Given the description of an element on the screen output the (x, y) to click on. 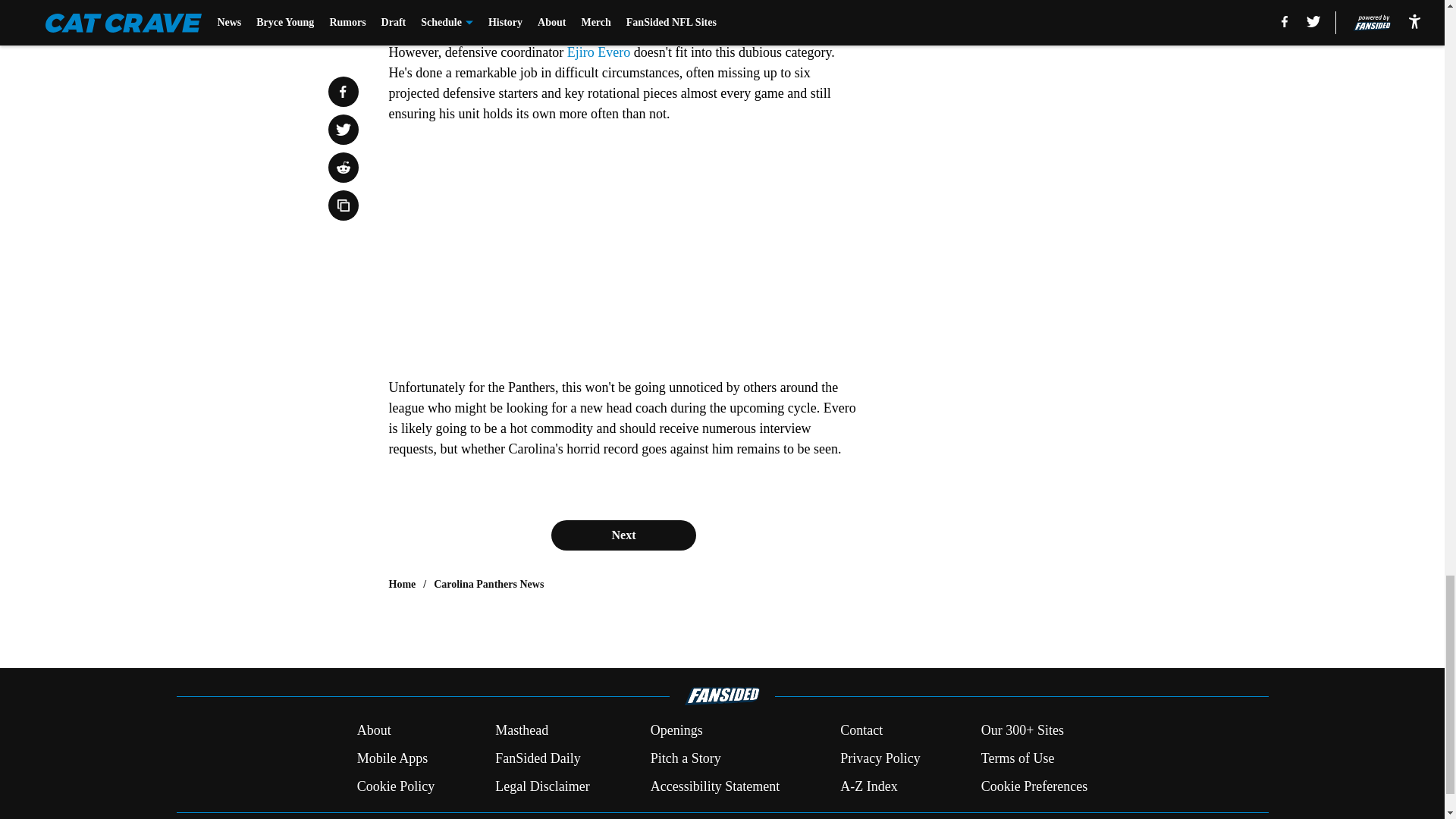
Contact (861, 730)
Openings (676, 730)
Next (622, 535)
Home (401, 584)
Masthead (521, 730)
Ejiro Evero (598, 52)
Carolina Panthers News (488, 584)
About (373, 730)
